Given the description of an element on the screen output the (x, y) to click on. 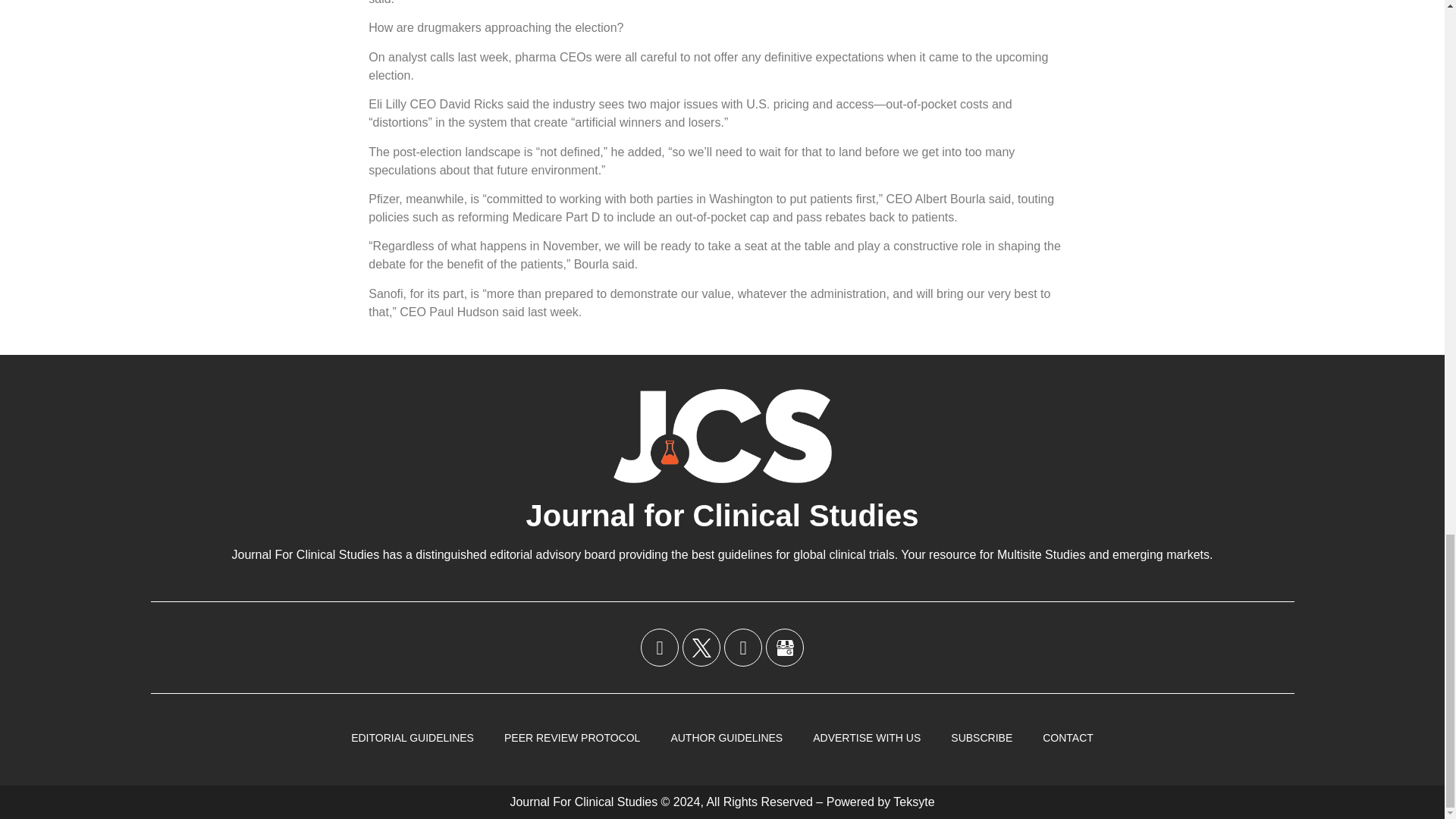
Web design services (913, 801)
jcs-white.png (722, 434)
